Given the description of an element on the screen output the (x, y) to click on. 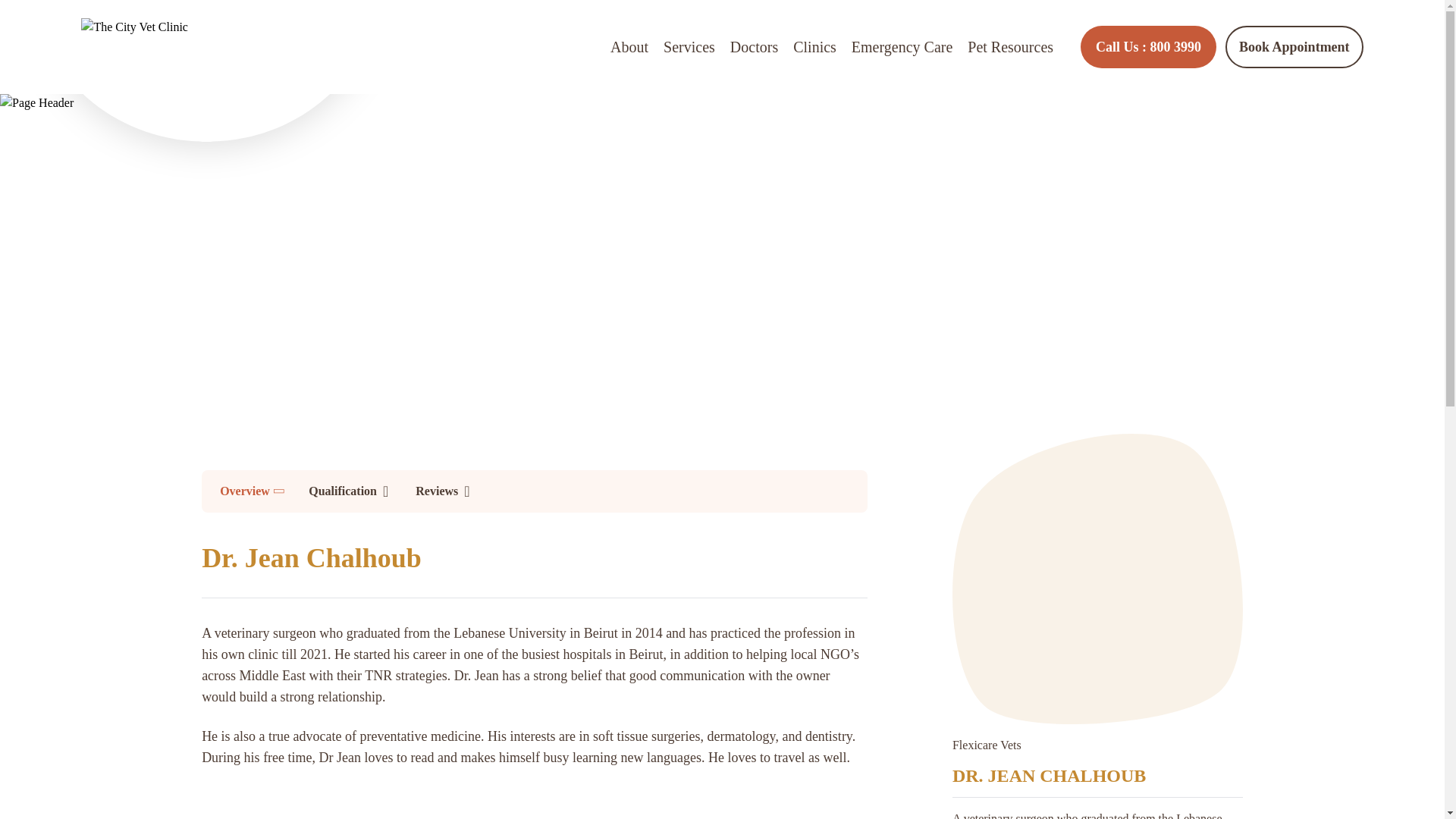
Emergency Care (901, 46)
Clinics (814, 46)
About (628, 46)
Pet Resources (1010, 46)
Doctors (1293, 46)
Call Us : 800 3990 (753, 46)
Services (1147, 46)
